Given the description of an element on the screen output the (x, y) to click on. 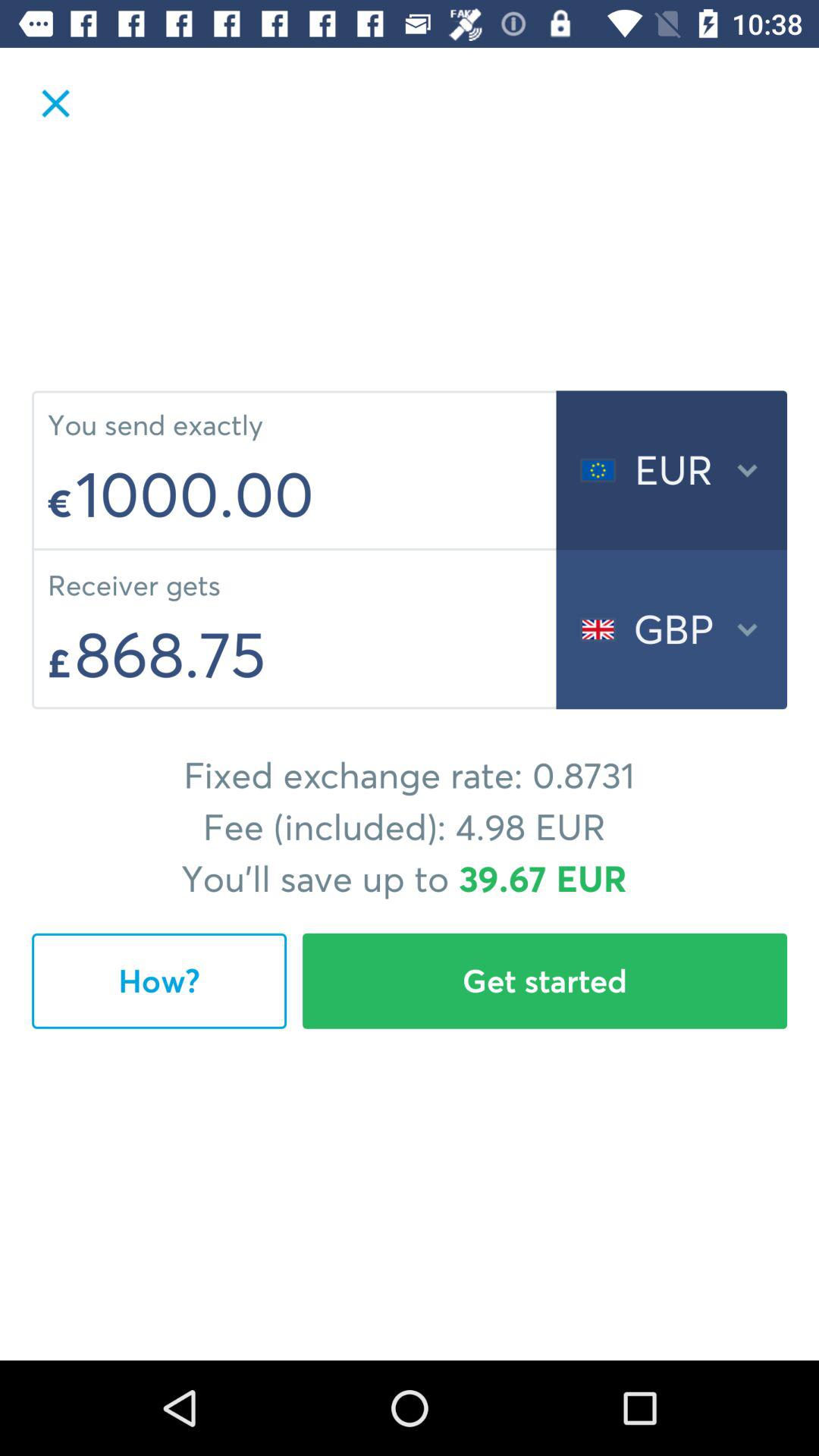
press the item above the fixed exchange rate (311, 653)
